Given the description of an element on the screen output the (x, y) to click on. 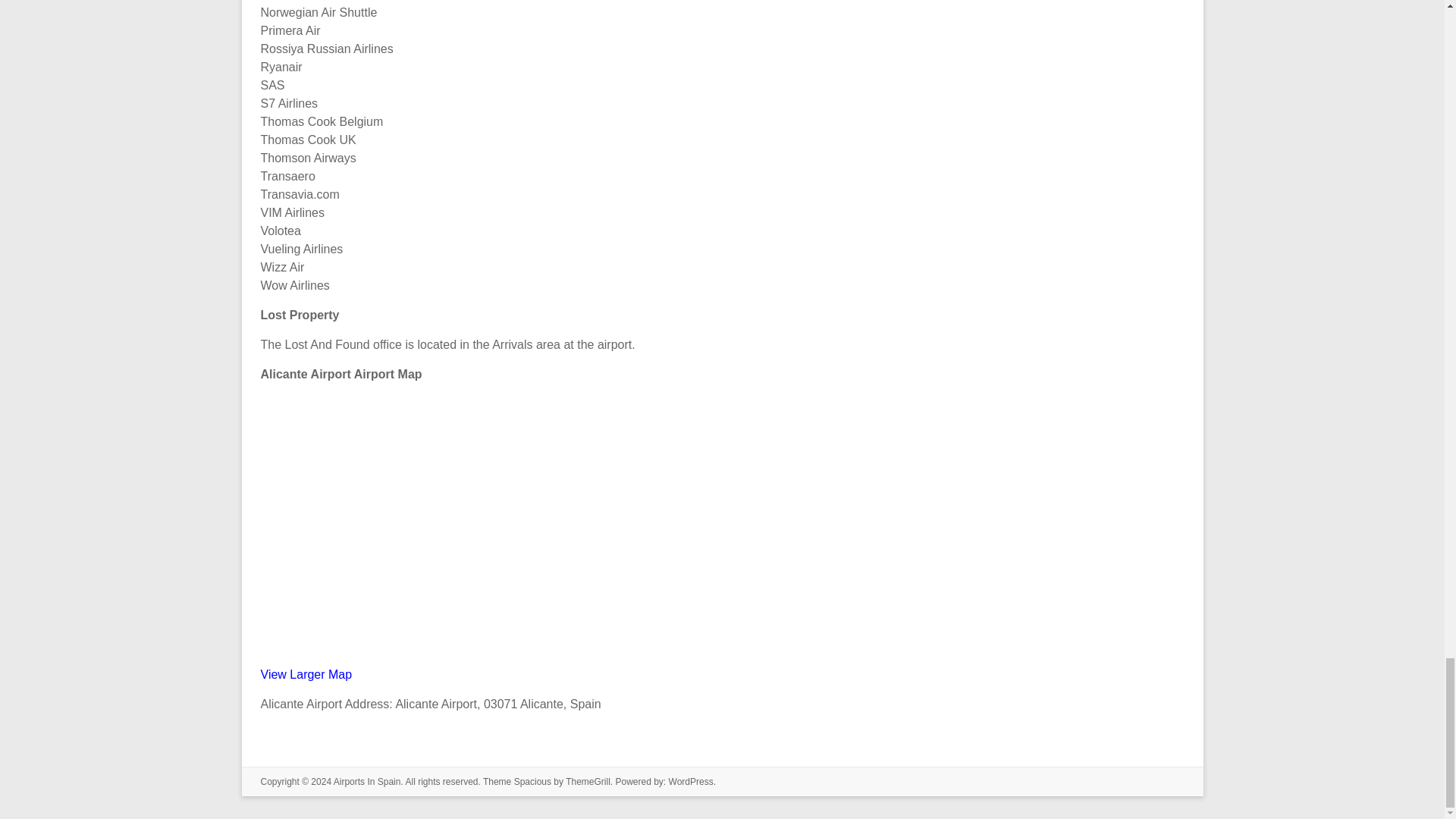
WordPress (690, 781)
View Larger Map (306, 674)
WordPress (690, 781)
Spacious (532, 781)
Airports In Spain (367, 781)
Spacious (532, 781)
Airports In Spain (367, 781)
